Given the description of an element on the screen output the (x, y) to click on. 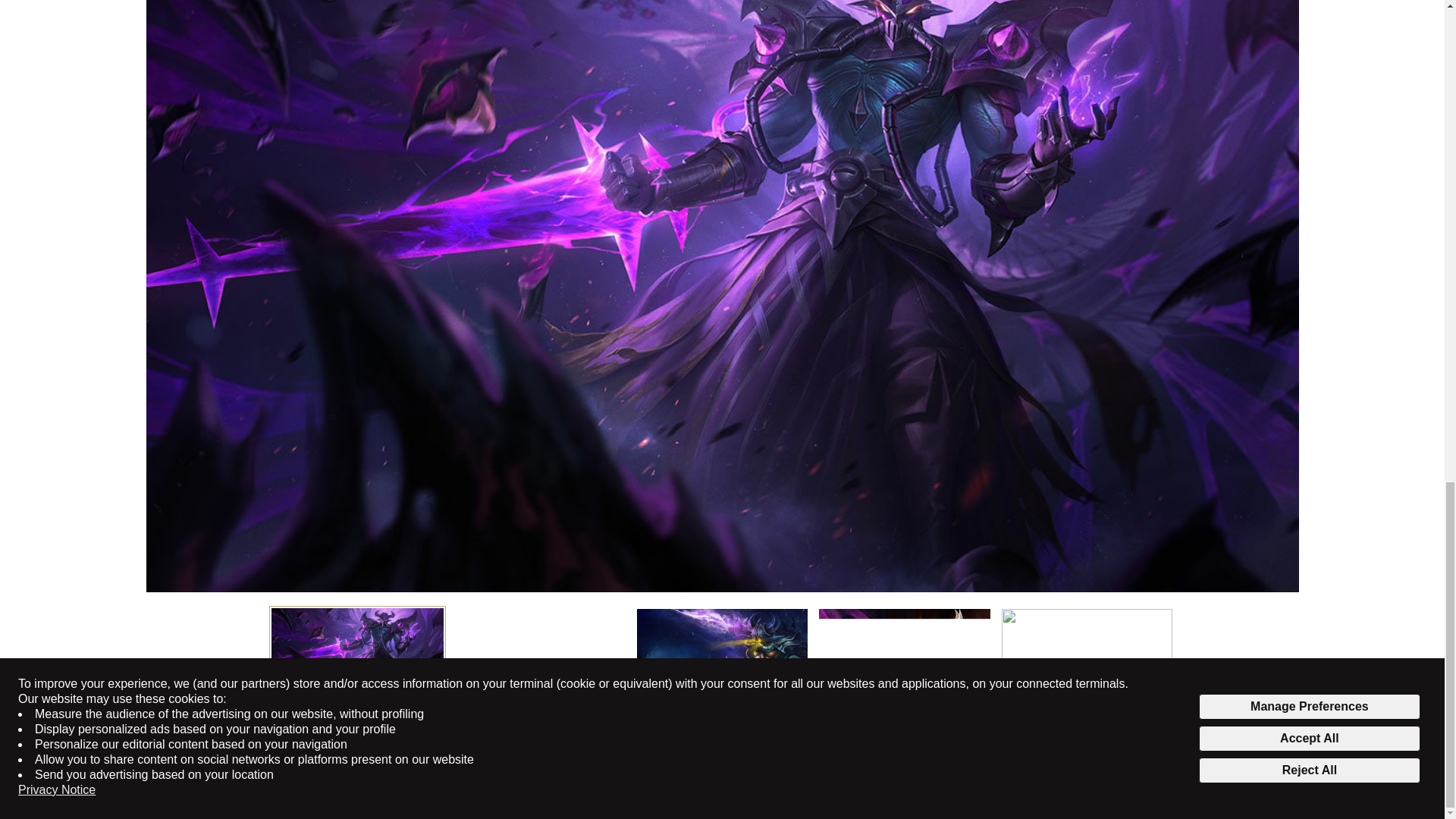
carouselLeft-icon (1137, 762)
carouselRight-icon (1164, 762)
